Given the description of an element on the screen output the (x, y) to click on. 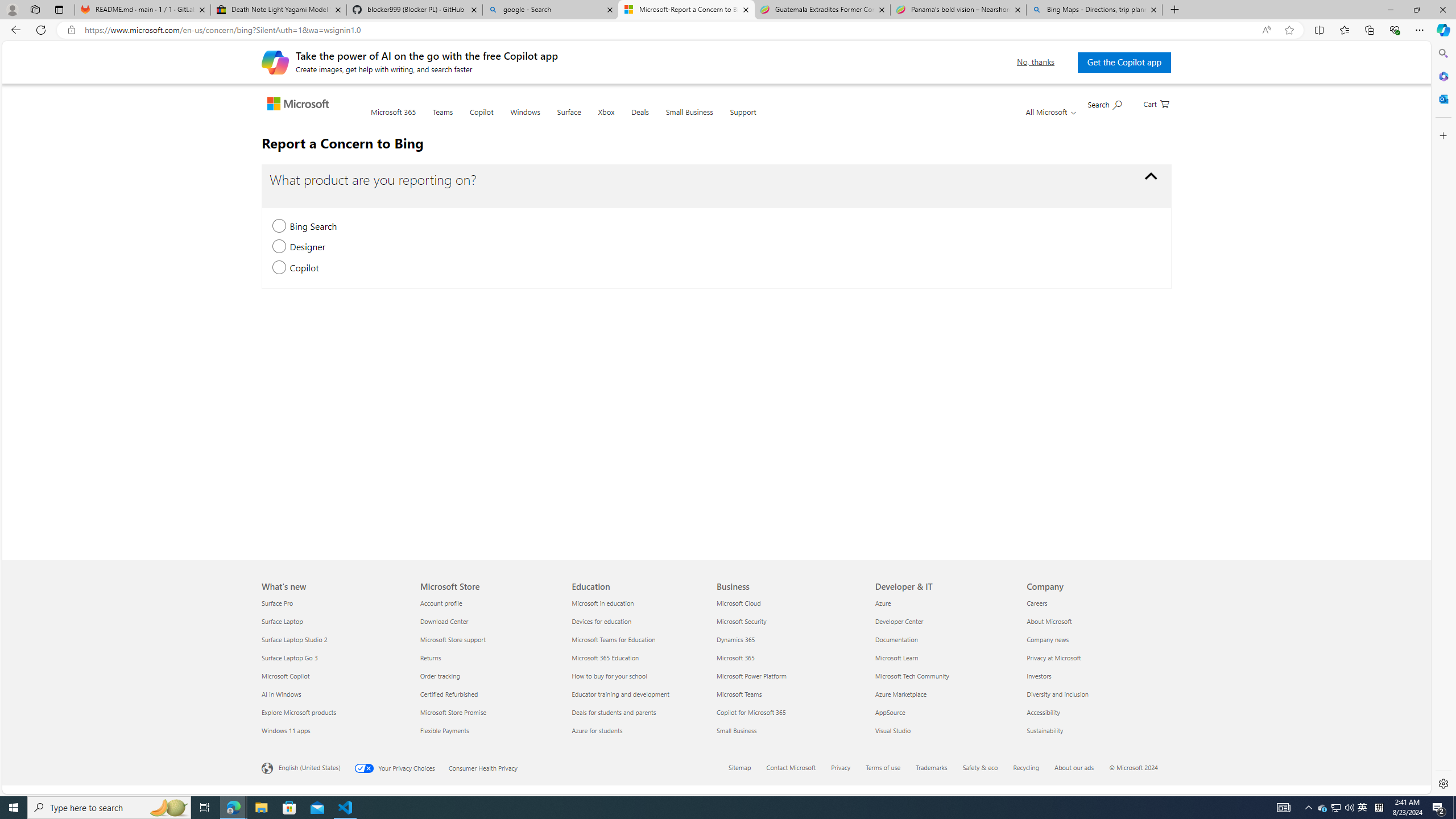
Diversity and inclusion Company (1057, 693)
Contact Microsoft (790, 766)
Microsoft Copilot What's new (286, 675)
Small Business Business (736, 729)
Your Privacy Choices Opt-Out Icon (365, 768)
Certified Refurbished Microsoft Store (449, 693)
Microsoft Teams Business (738, 693)
About our ads (1074, 766)
Microsoft Teams (788, 693)
Developer Center Developer & IT (899, 620)
Diversity and inclusion (1095, 693)
Devices for education Education (601, 620)
Safety & eco (980, 766)
